Given the description of an element on the screen output the (x, y) to click on. 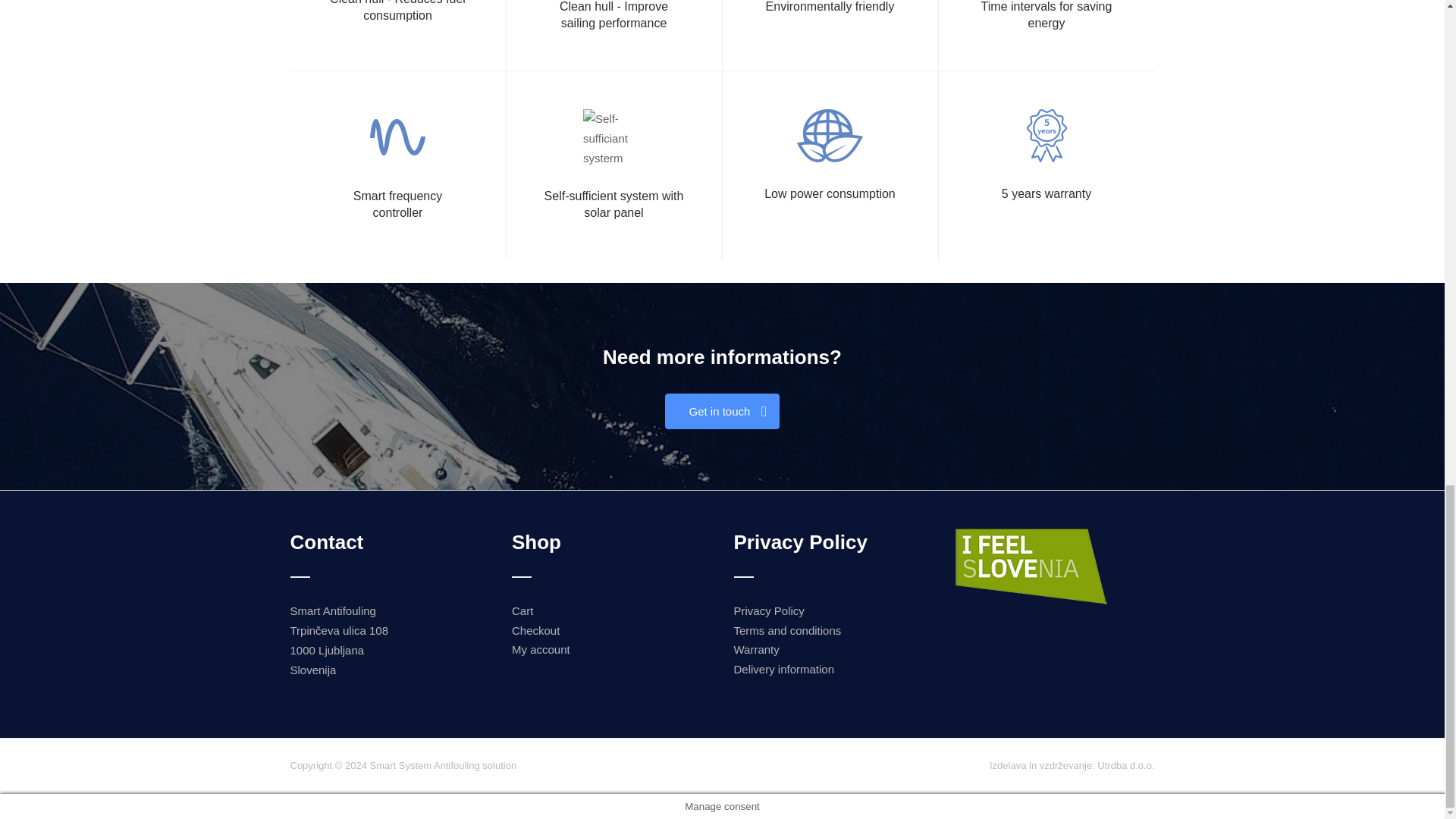
Terms and conditions (787, 630)
My account (541, 649)
Privacy Policy (769, 610)
Cart (522, 610)
Warranty (755, 649)
Utrdba d.o.o. (1125, 765)
Delivery information (783, 668)
Checkout (535, 630)
Get in touch (721, 411)
